Given the description of an element on the screen output the (x, y) to click on. 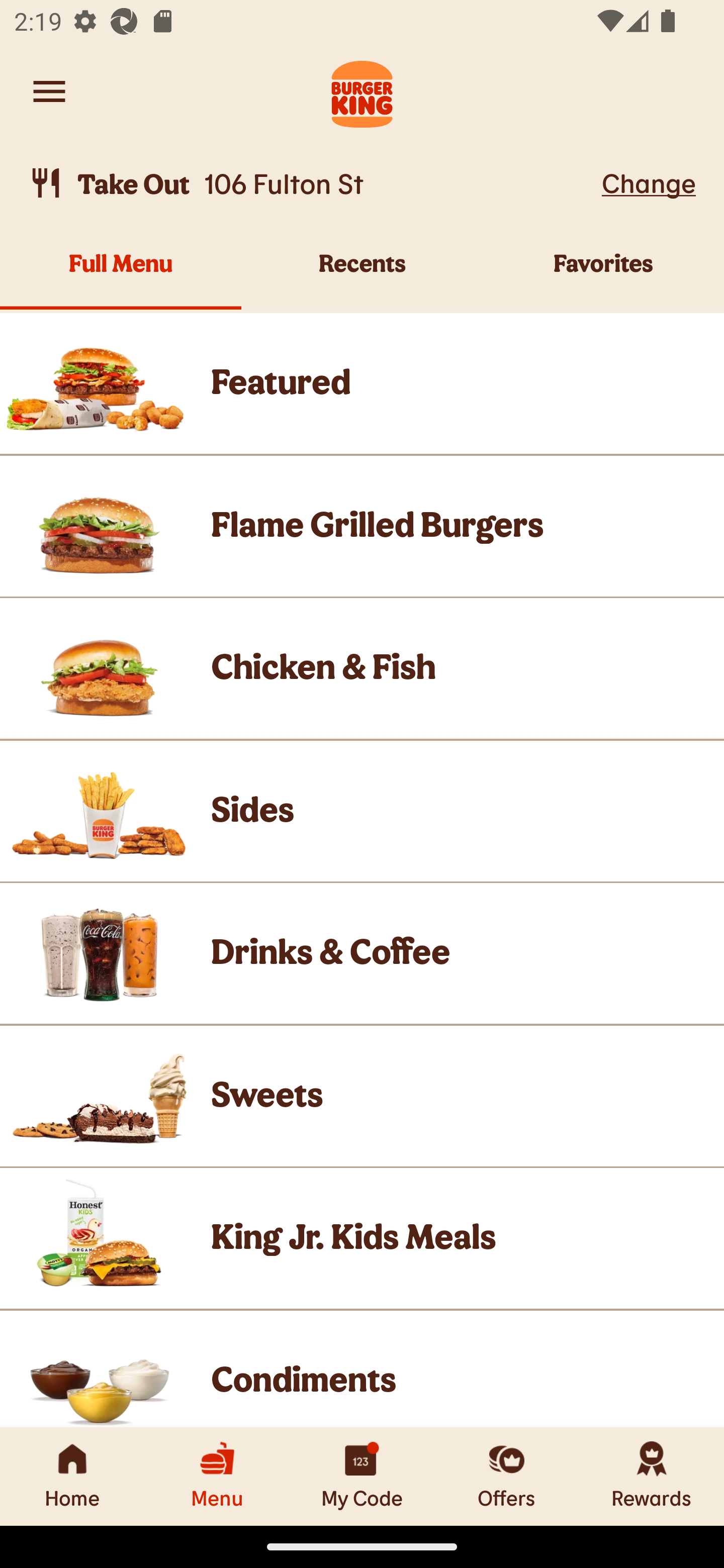
Burger King Logo. Navigate to Home (362, 91)
Navigate to account menu  (49, 91)
Take Out, 106 Fulton St  Take Out 106 Fulton St (311, 183)
Change (648, 182)
Full Menu (120, 273)
Recents (361, 273)
Favorites (603, 273)
Product Image, Featured Product Image Featured (362, 383)
Product Image, Sides Product Image Sides (362, 810)
Product Image, Sweets Product Image Sweets (362, 1095)
Product Image, Condiments Product Image Condiments (362, 1368)
Home (72, 1475)
Menu (216, 1475)
My Code (361, 1475)
Offers (506, 1475)
Rewards (651, 1475)
